Given the description of an element on the screen output the (x, y) to click on. 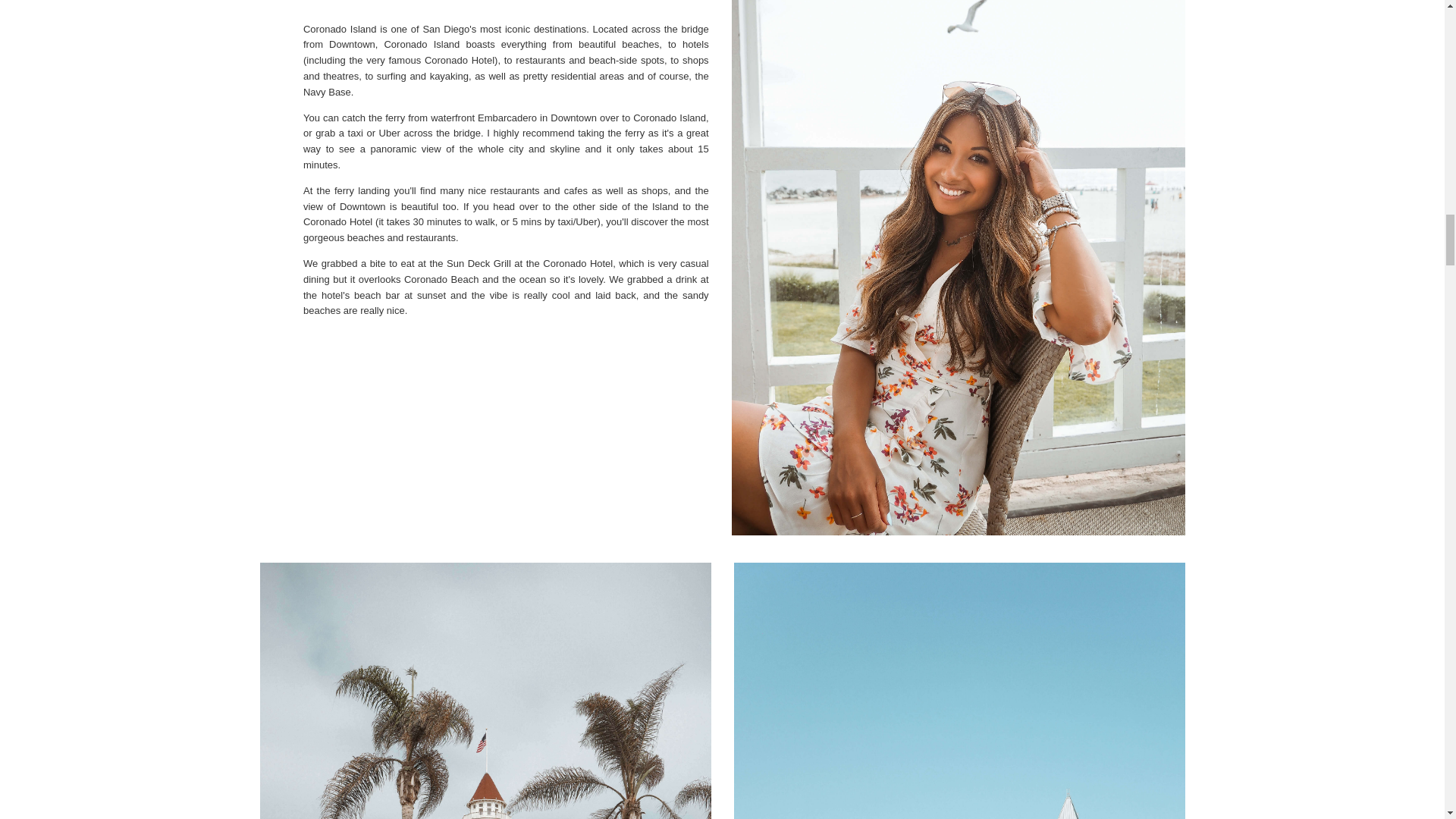
OLYMPUS DIGITAL CAMERA (959, 690)
